Given the description of an element on the screen output the (x, y) to click on. 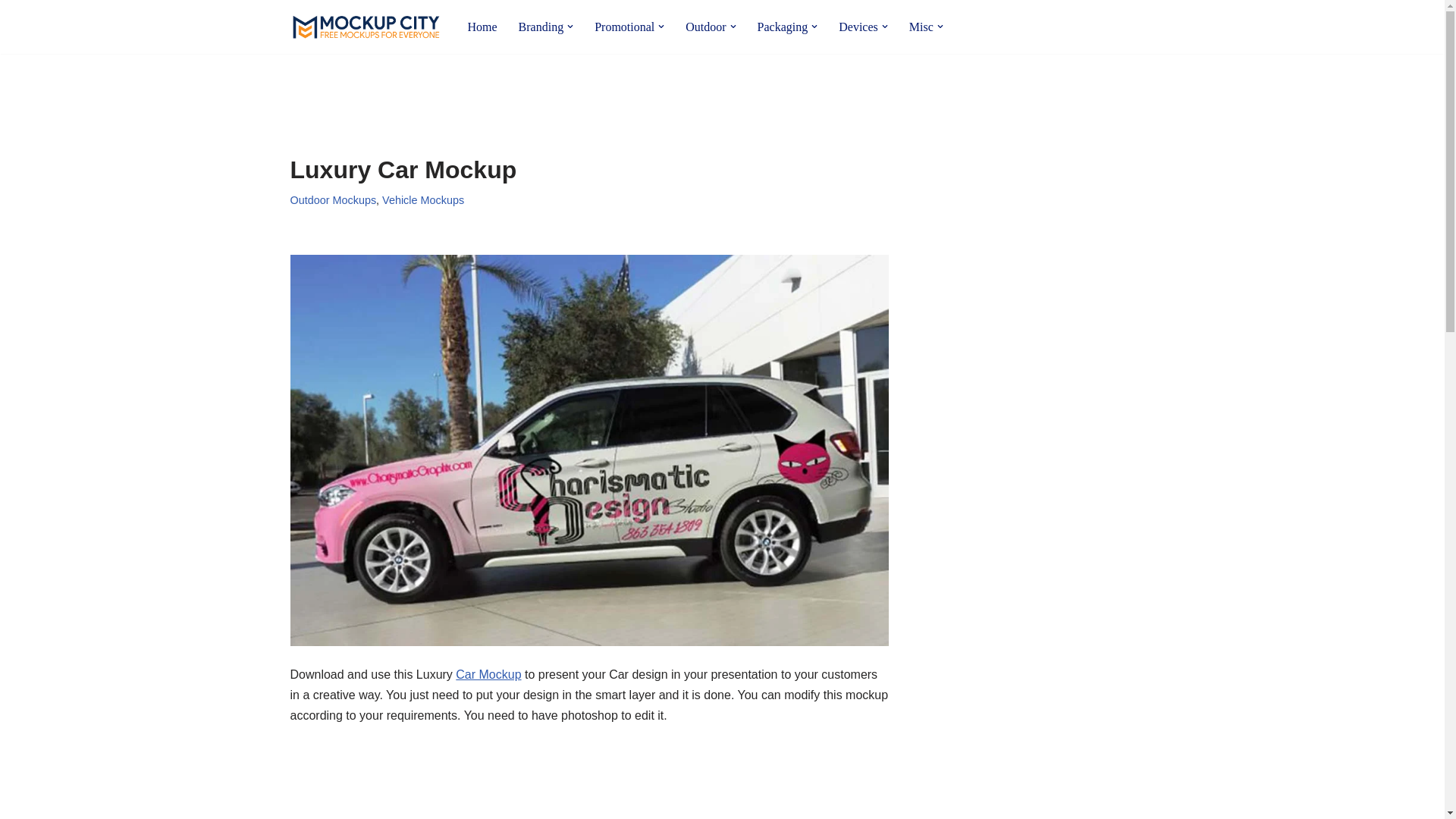
Outdoor (705, 26)
Devices (857, 26)
Packaging (782, 26)
Promotional (623, 26)
Home (481, 26)
Advertisement (565, 93)
Advertisement (588, 783)
Branding (541, 26)
Skip to content (11, 31)
